Given the description of an element on the screen output the (x, y) to click on. 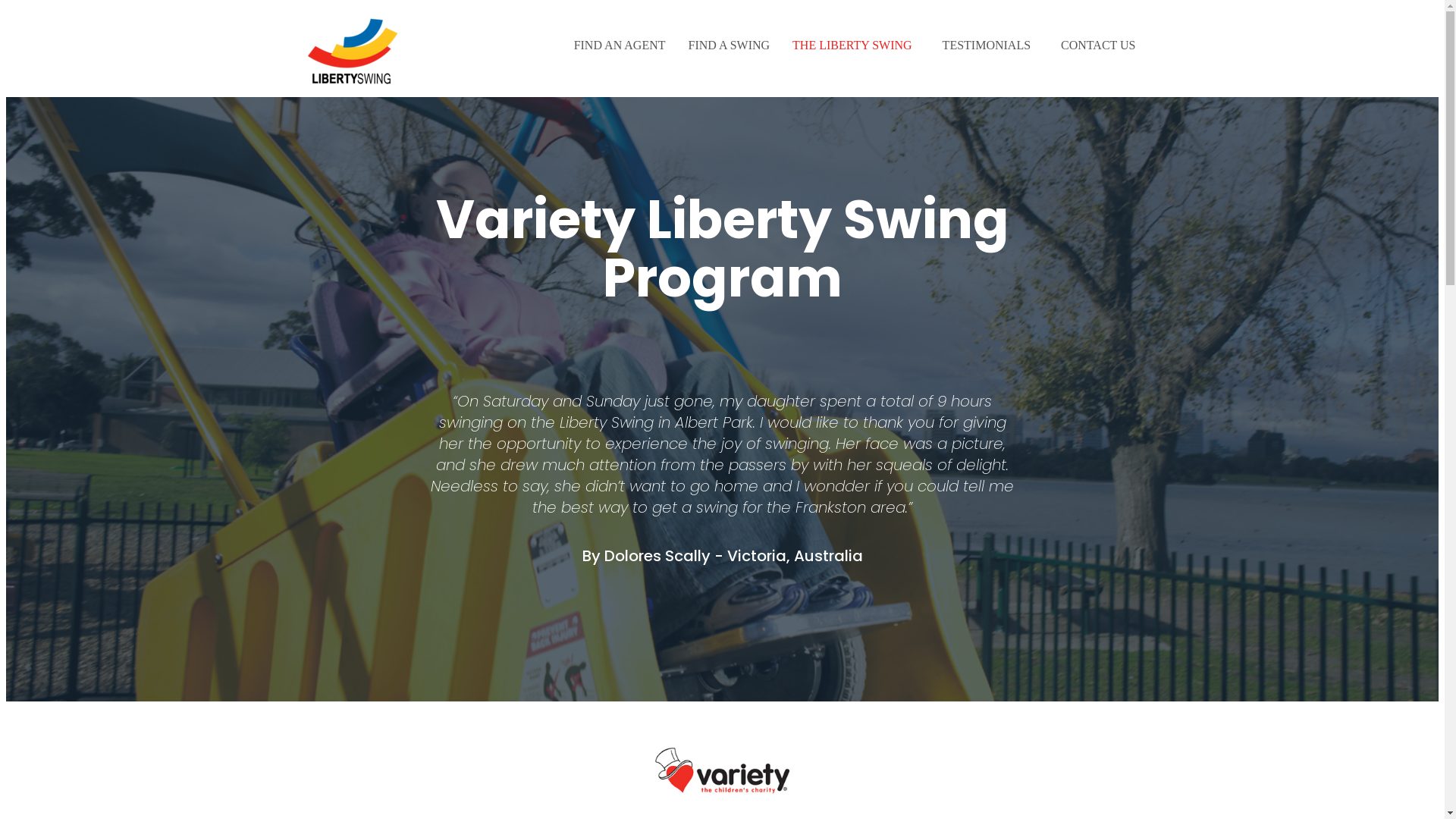
FIND A SWING Element type: text (729, 45)
THE LIBERTY SWING Element type: text (856, 45)
TESTIMONIALS Element type: text (990, 45)
FIND AN AGENT Element type: text (619, 45)
CONTACT US Element type: text (1097, 45)
